Given the description of an element on the screen output the (x, y) to click on. 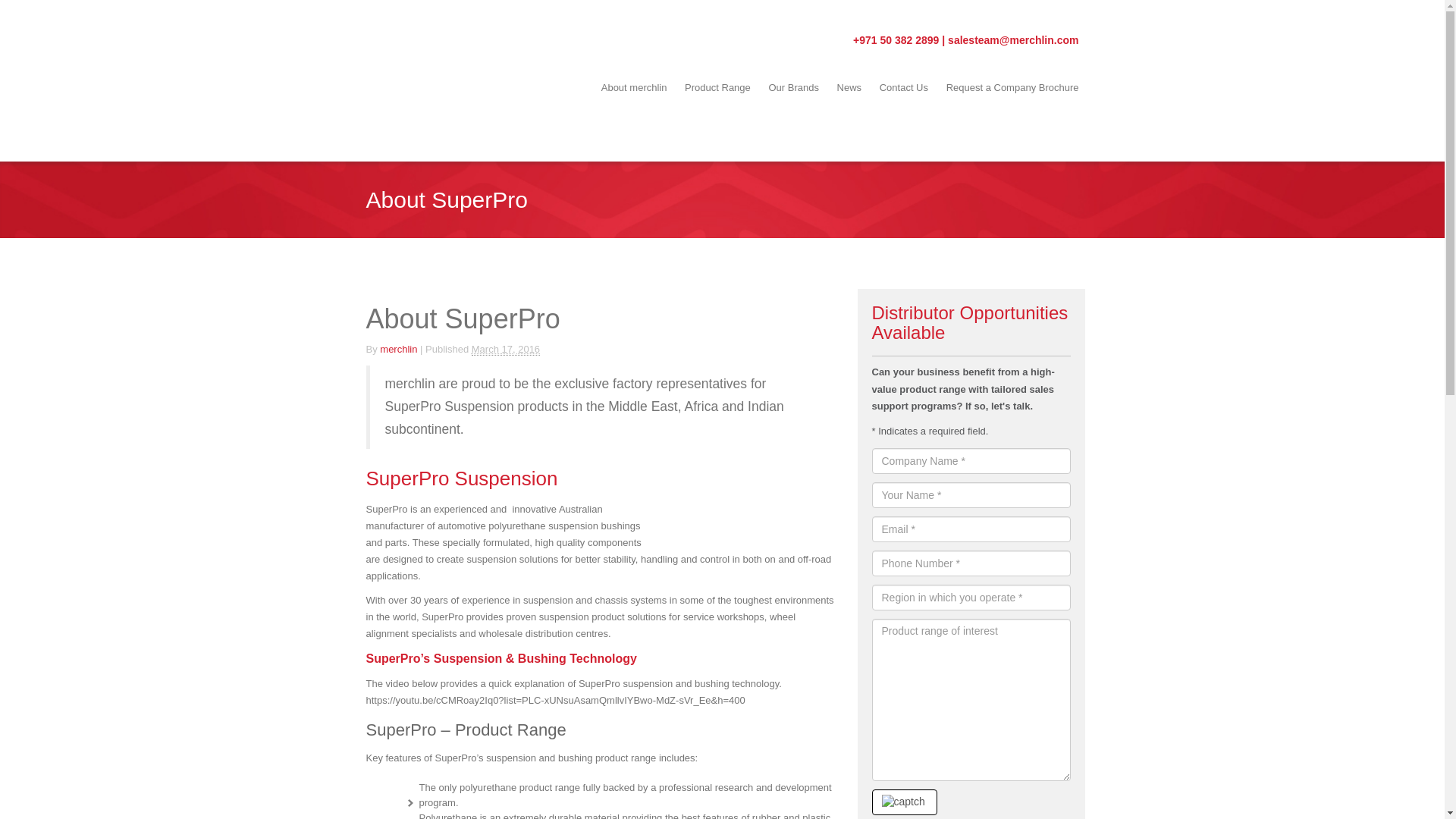
About merchlin (633, 87)
Superpro suspension (759, 485)
View all articles by merchlin (398, 348)
